Given the description of an element on the screen output the (x, y) to click on. 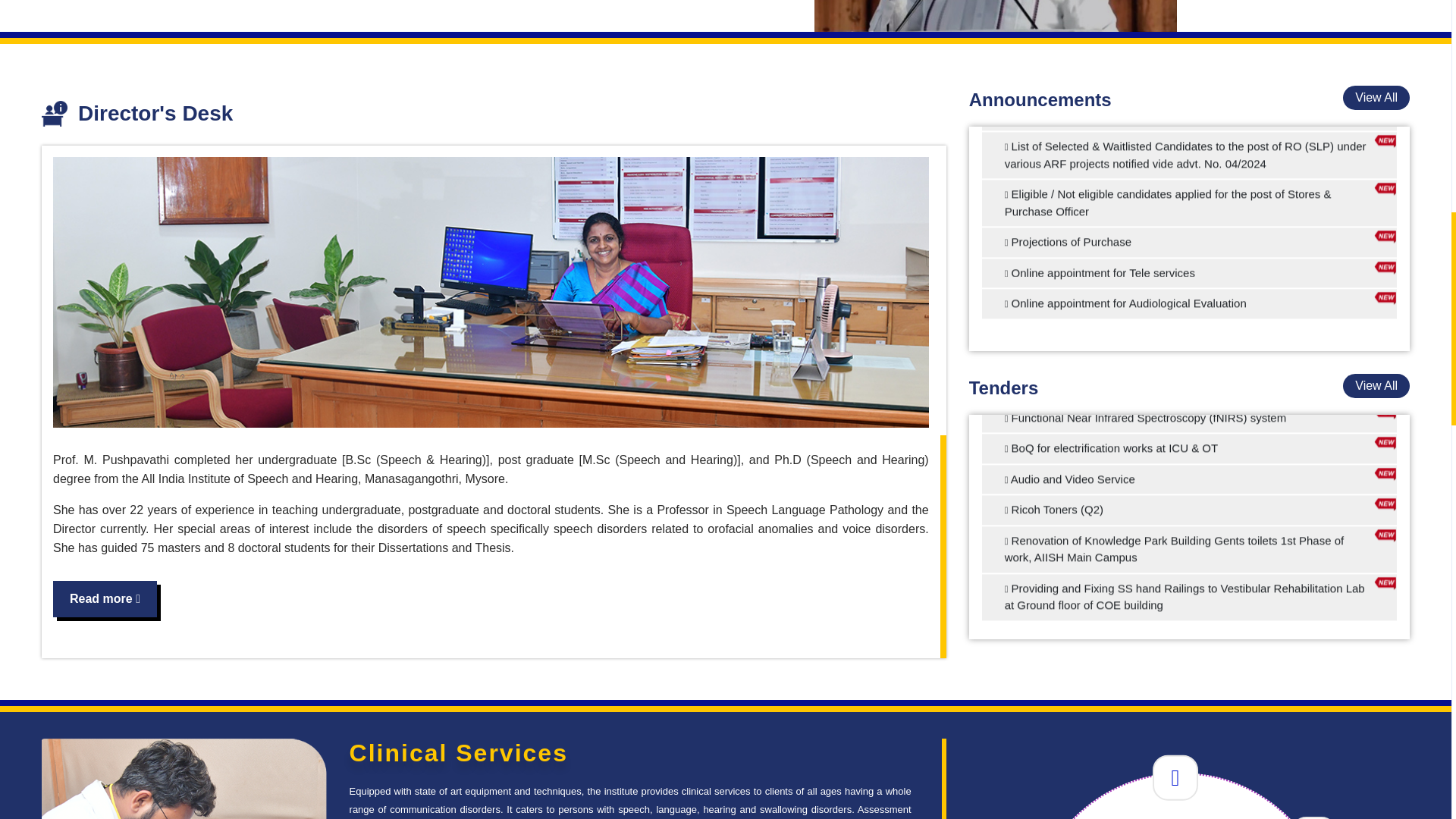
Audio and Video Service (1189, 642)
Bid for Hearing aid analyser with computer (1189, 555)
